Given the description of an element on the screen output the (x, y) to click on. 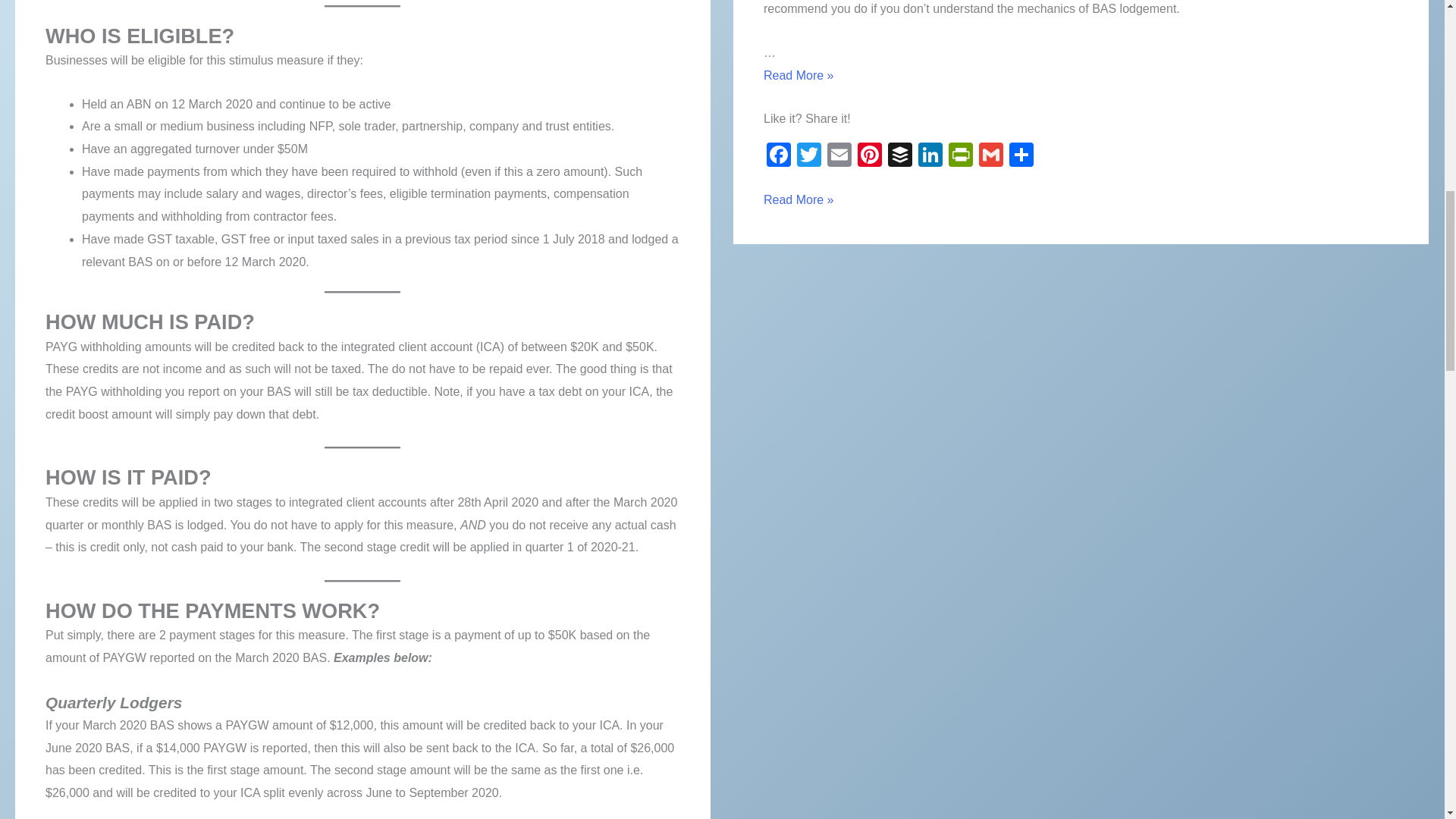
Pinterest (869, 156)
Email (839, 156)
Facebook (777, 156)
Twitter (808, 156)
